Given the description of an element on the screen output the (x, y) to click on. 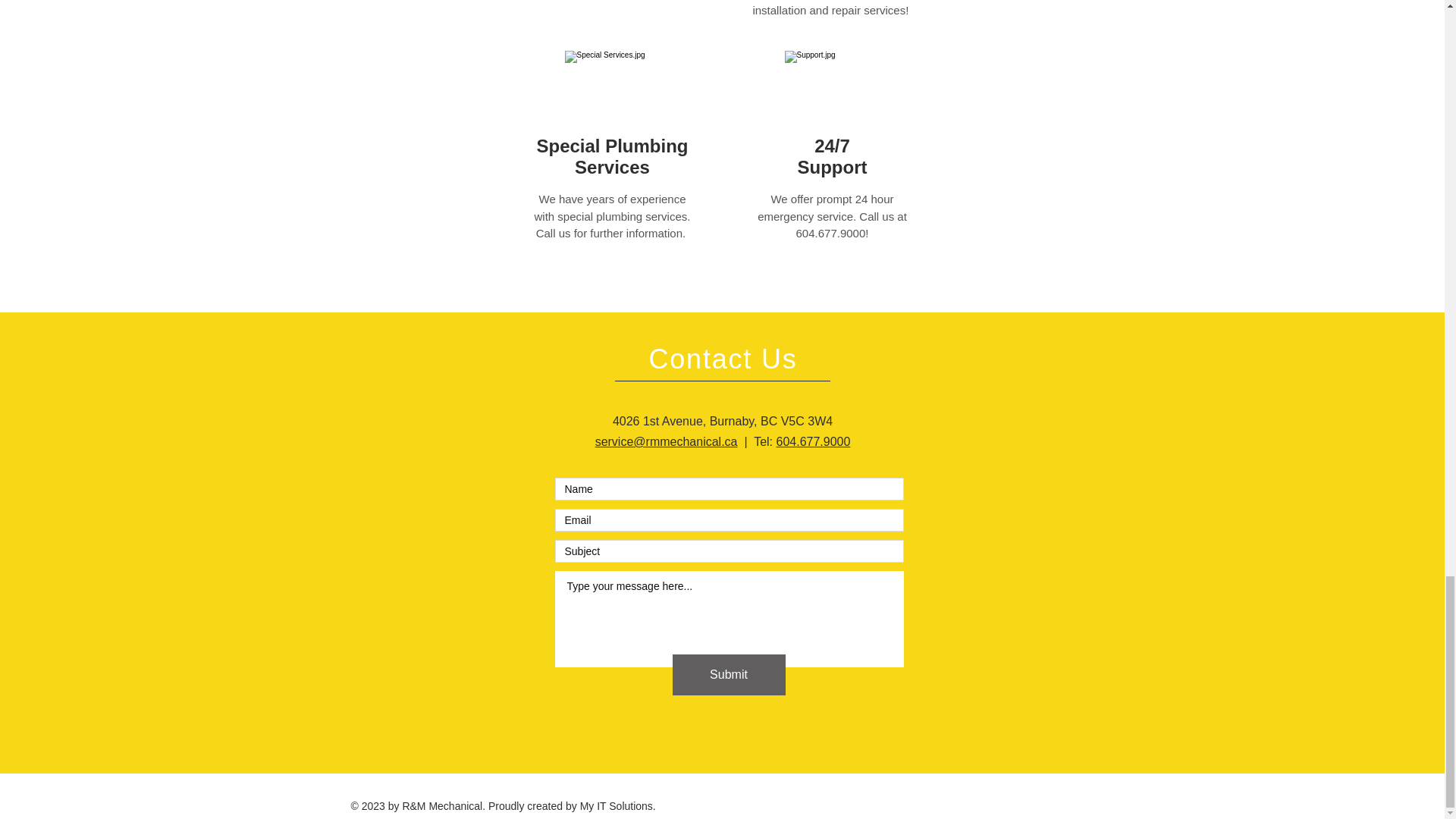
Submit (727, 674)
604.677.9000 (813, 440)
